Given the description of an element on the screen output the (x, y) to click on. 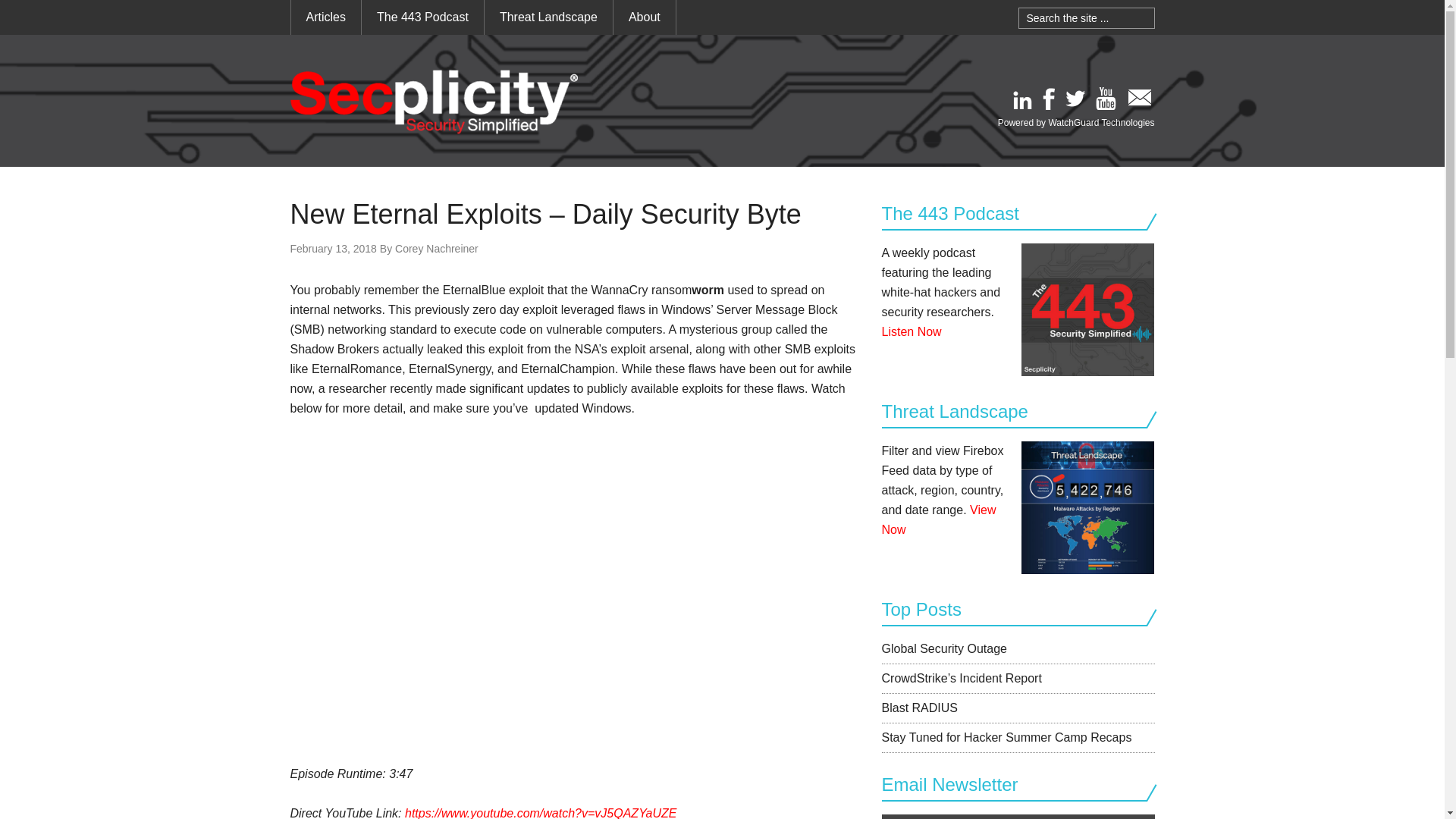
About (643, 17)
Stay Tuned for Hacker Summer Camp Recaps (1005, 737)
View Now (937, 519)
Threat Landscape (548, 17)
Listen Now (910, 331)
Articles (326, 17)
Global Security Outage (943, 648)
Blast RADIUS (918, 707)
The 443 Podcast (422, 17)
Secplicity - Security Simplified (433, 101)
